Given the description of an element on the screen output the (x, y) to click on. 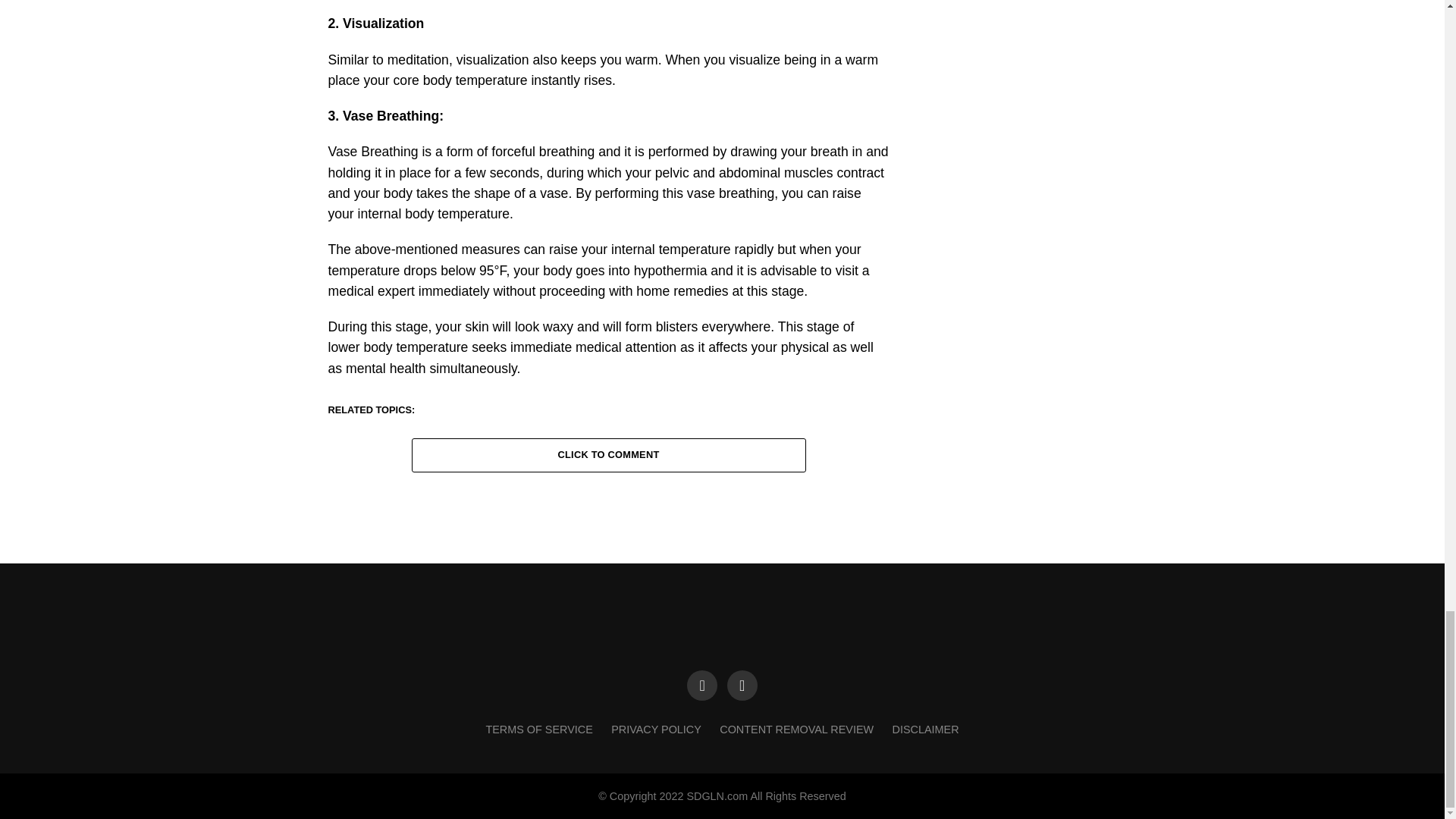
TERMS OF SERVICE (538, 729)
DISCLAIMER (925, 729)
CONTENT REMOVAL REVIEW (796, 729)
PRIVACY POLICY (656, 729)
